Given the description of an element on the screen output the (x, y) to click on. 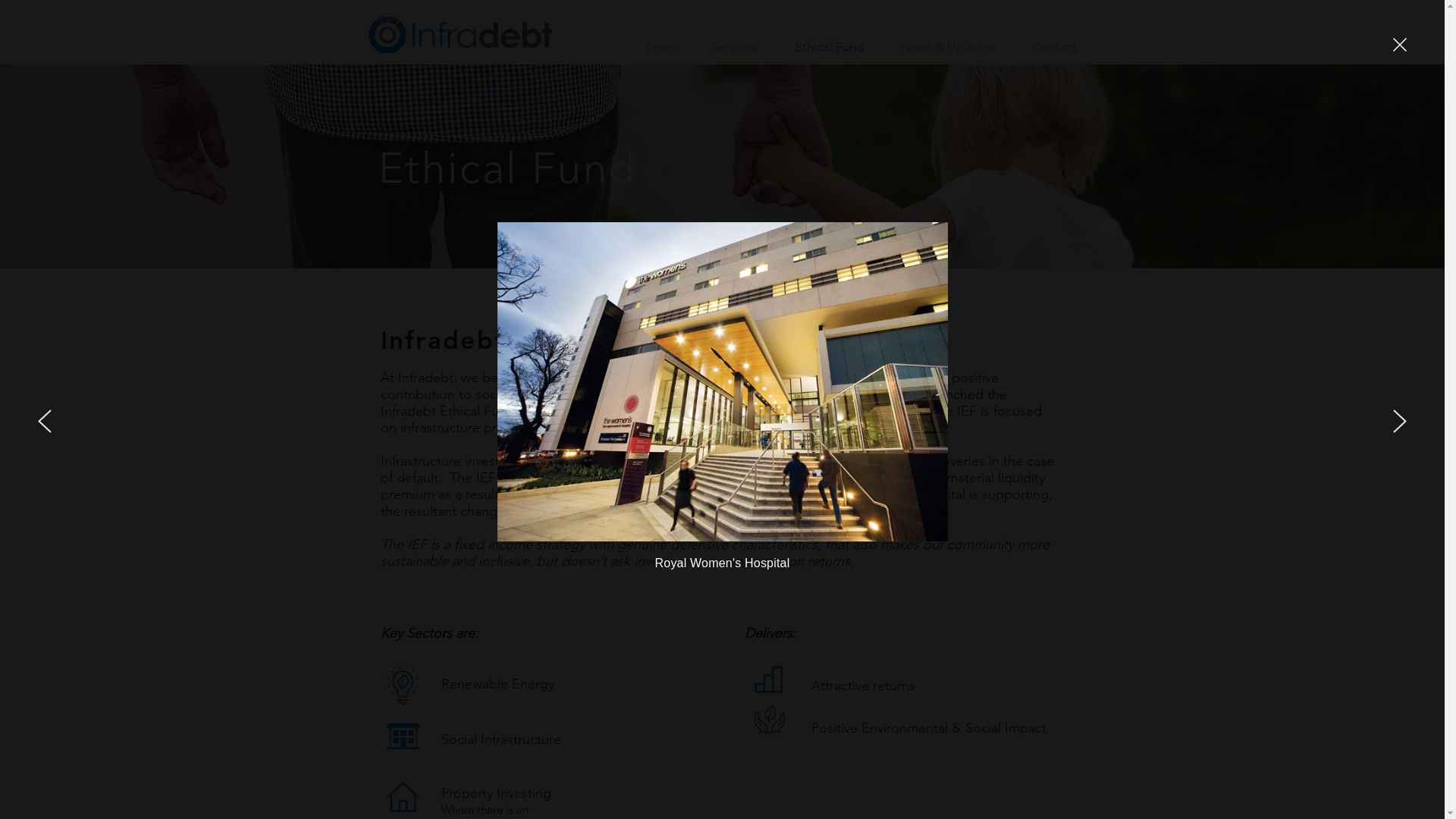
Team Element type: text (659, 47)
Services Element type: text (734, 47)
Contact Element type: text (1054, 47)
Ethical Fund Element type: text (829, 47)
News & Updates Element type: text (947, 47)
